Given the description of an element on the screen output the (x, y) to click on. 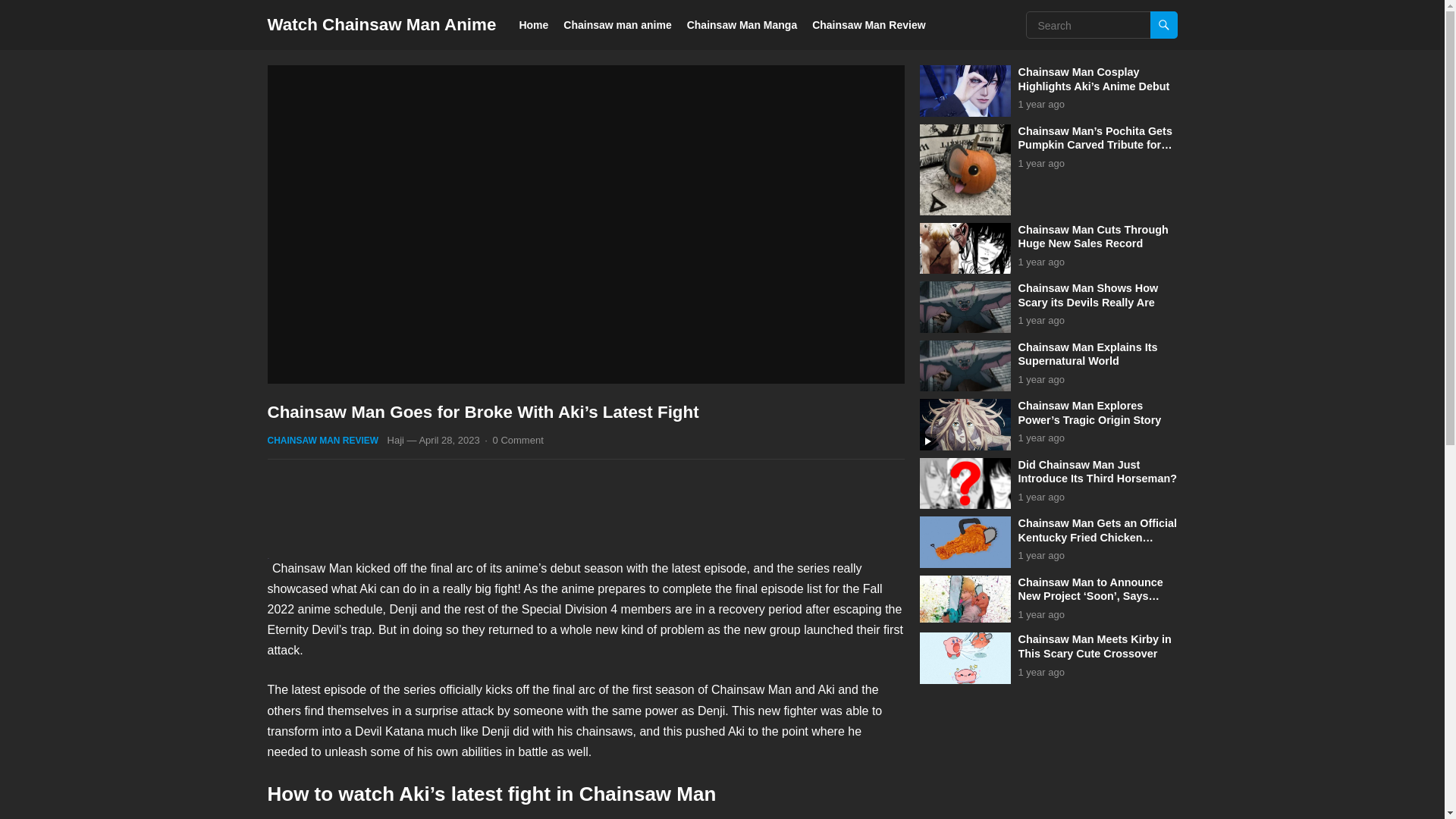
0 Comment (518, 439)
Did Chainsaw Man Just Introduce Its Third Horseman? (1096, 470)
Chainsaw Man Review (868, 24)
Chainsaw Man Shows How Scary its Devils Really Are (1087, 294)
Watch Chainsaw Man Anime (381, 24)
Home (533, 24)
Posts by Haji (395, 439)
Haji (395, 439)
CHAINSAW MAN REVIEW (322, 439)
Chainsaw Man Manga (741, 24)
Chainsaw Man Meets Kirby in This Scary Cute Crossover (1093, 646)
Chainsaw Man Cuts Through Huge New Sales Record (1092, 235)
Chainsaw man anime (617, 24)
Chainsaw Man Explains Its Supernatural World (1087, 354)
